Given the description of an element on the screen output the (x, y) to click on. 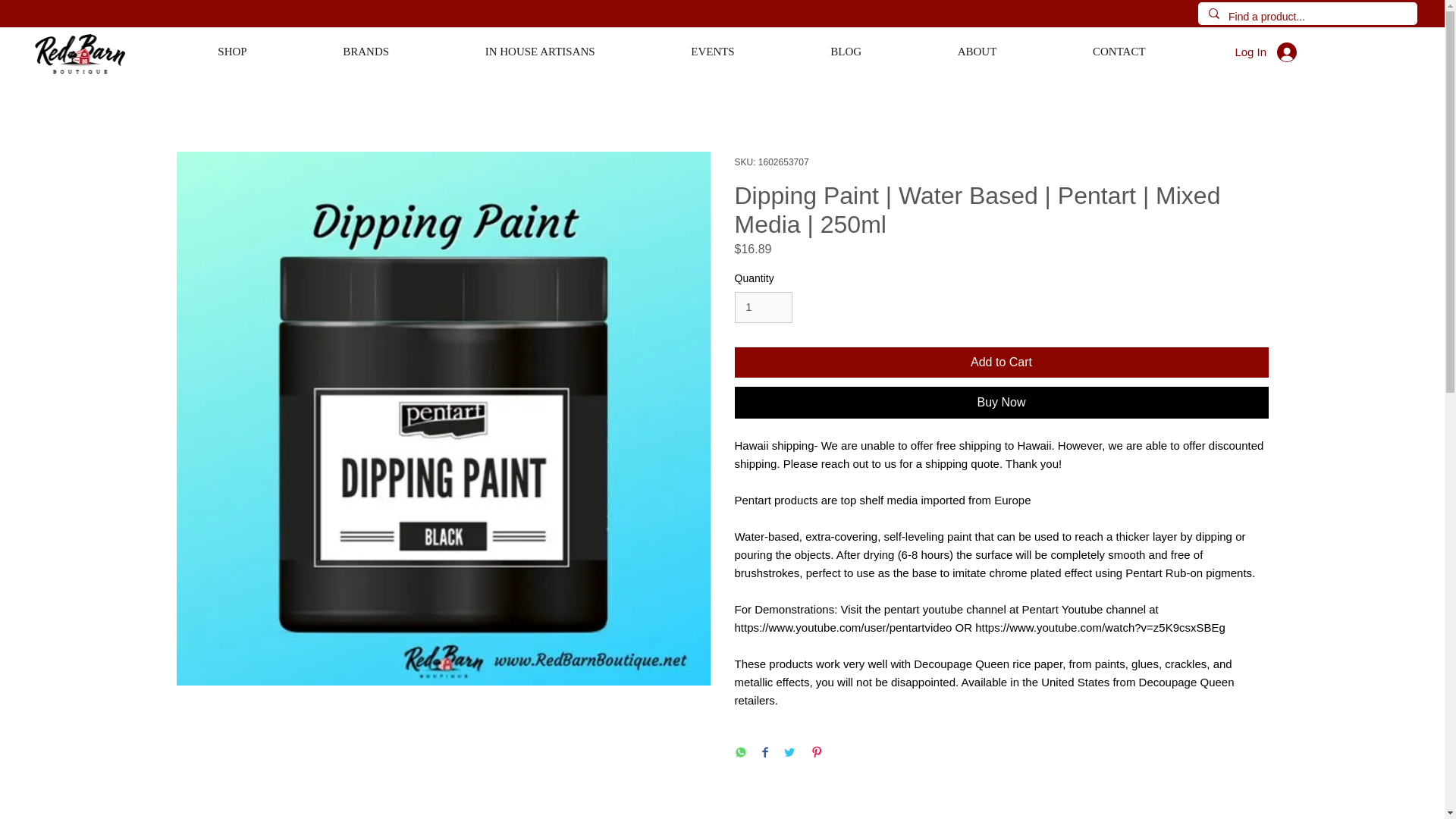
1 (762, 306)
Log In (1265, 51)
